Given the description of an element on the screen output the (x, y) to click on. 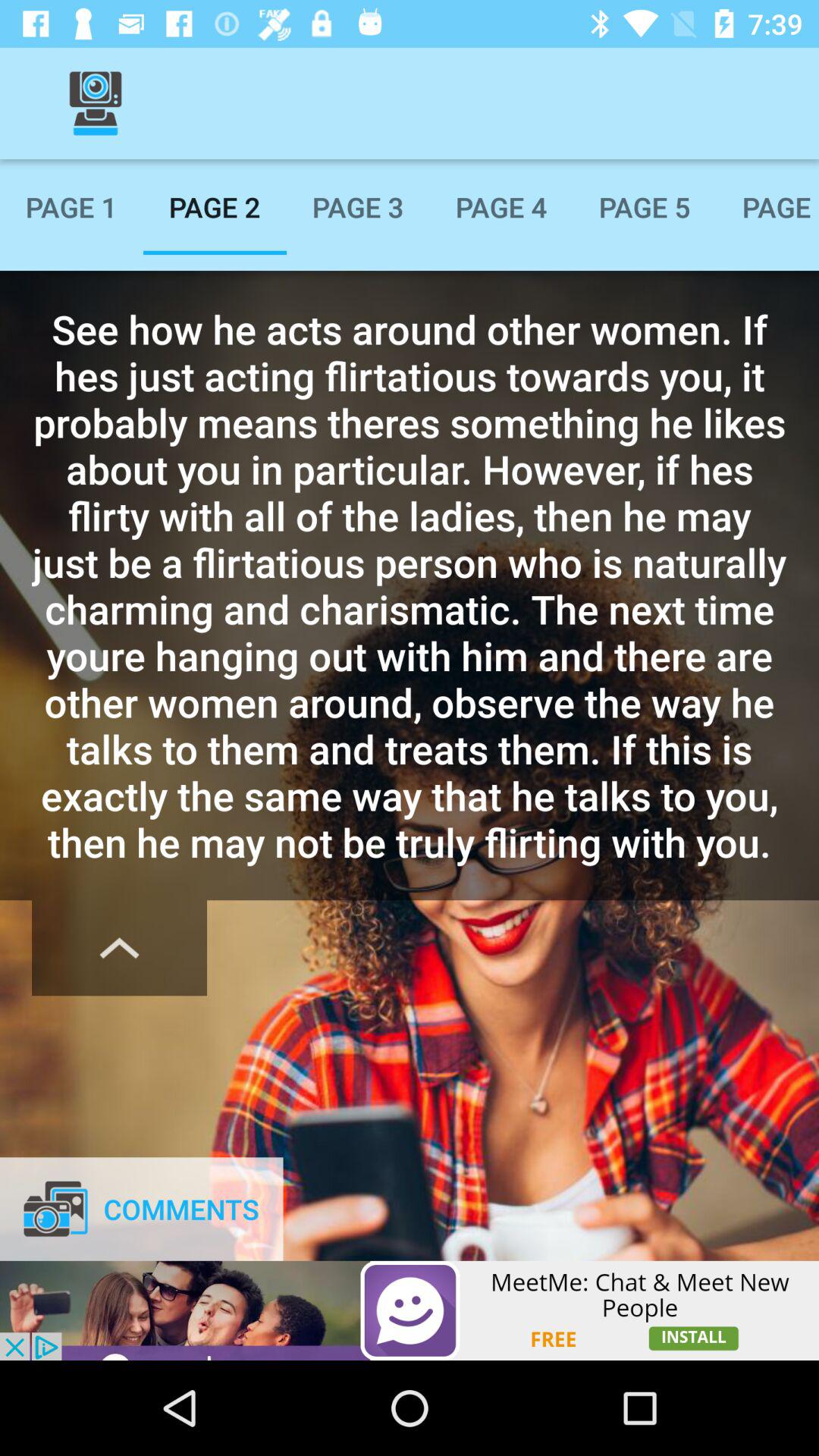
switch autoplay option (119, 947)
